Given the description of an element on the screen output the (x, y) to click on. 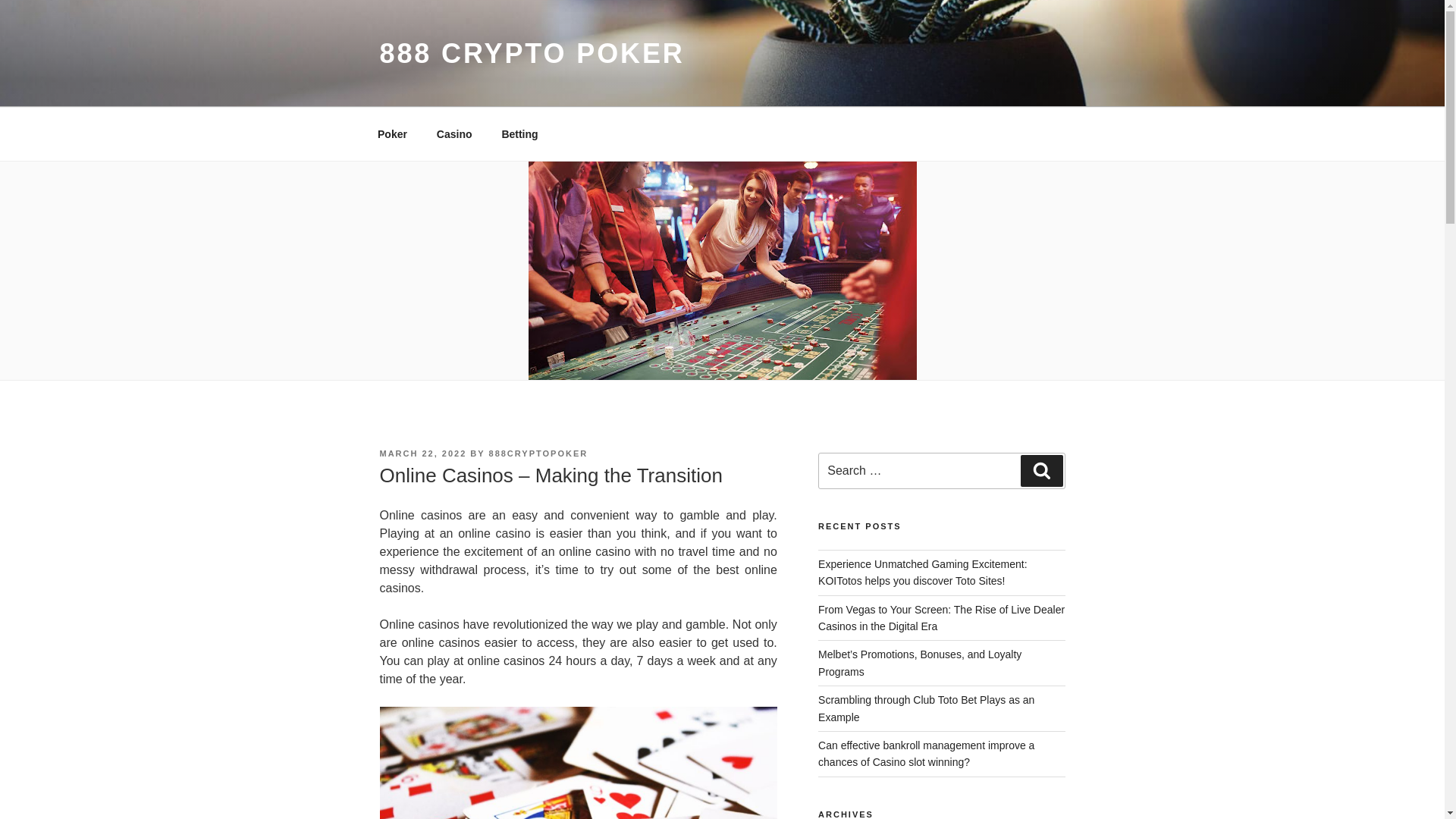
Poker (392, 133)
Search (1041, 470)
888 CRYPTO POKER (531, 52)
Betting (519, 133)
888CRYPTOPOKER (538, 452)
Casino (453, 133)
MARCH 22, 2022 (421, 452)
